Given the description of an element on the screen output the (x, y) to click on. 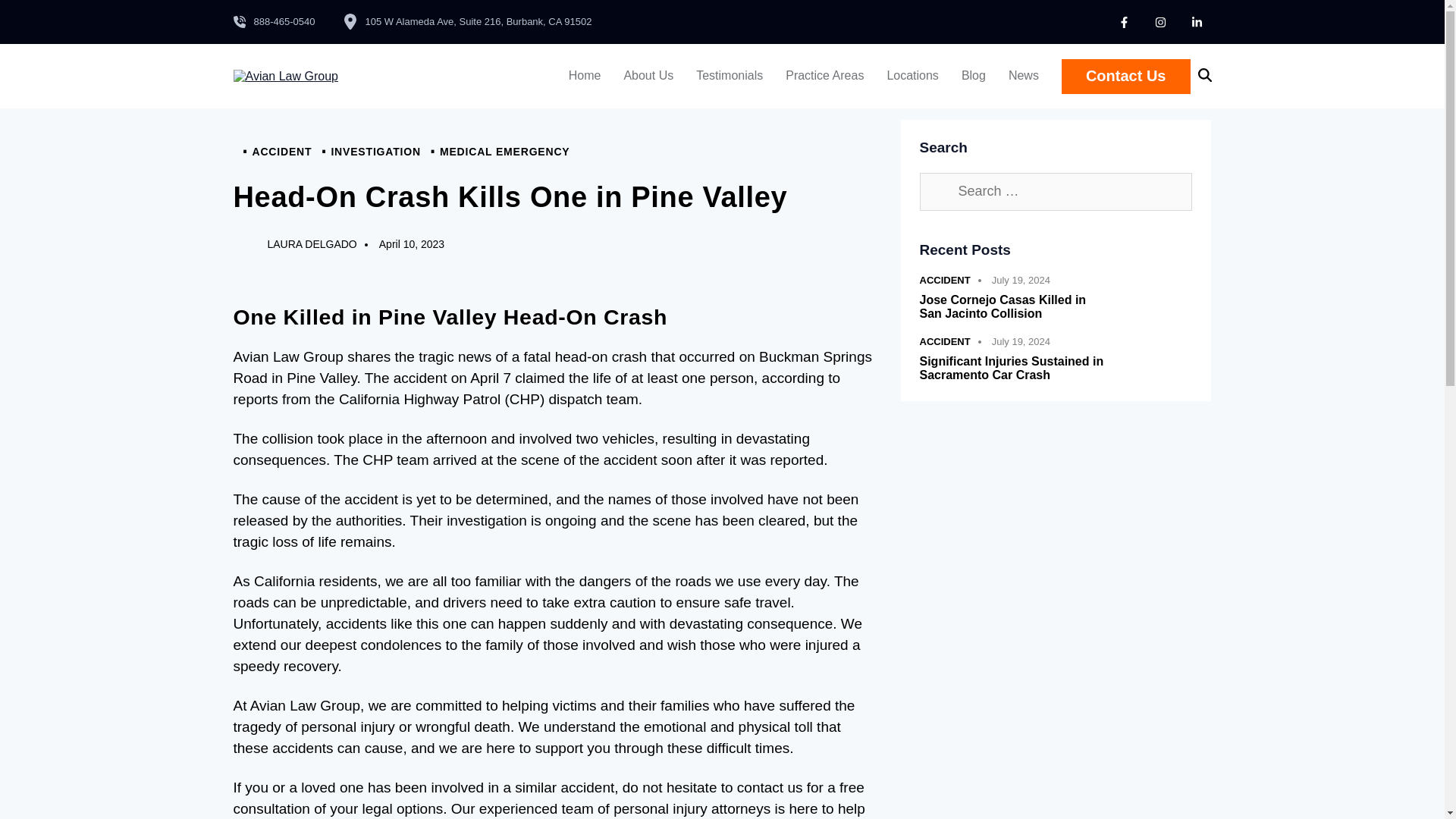
888-465-0540 (273, 21)
Search (937, 191)
Home (584, 76)
Avian Law Group (284, 75)
About Us (647, 76)
Practice Areas (824, 76)
Locations (912, 76)
Search (937, 191)
Testimonials (729, 76)
105 W Alameda Ave, Suite 216, Burbank, CA 91502 (467, 21)
